Given the description of an element on the screen output the (x, y) to click on. 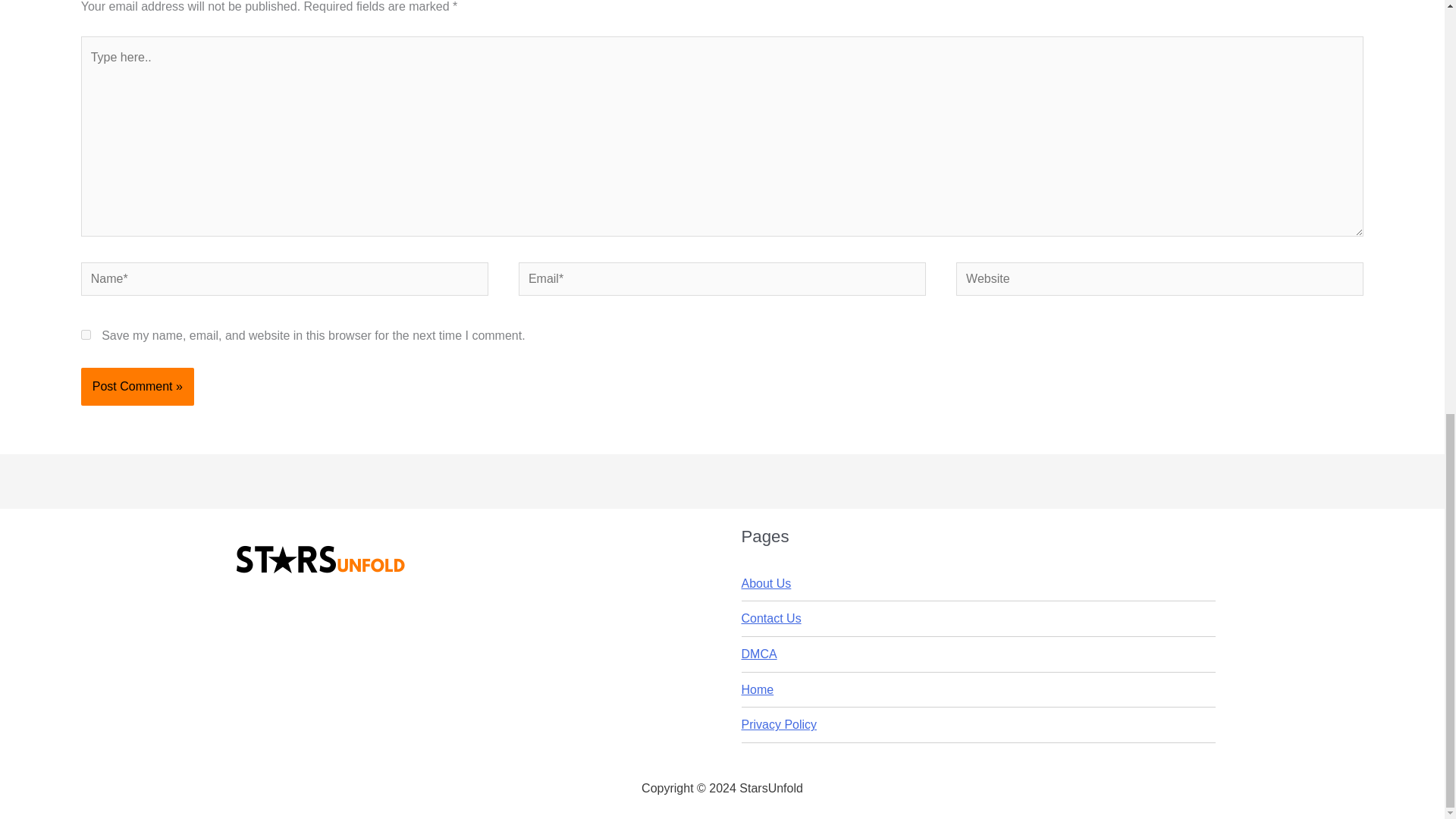
Privacy Policy (778, 724)
yes (85, 334)
DMCA (759, 653)
About Us (766, 583)
Home (757, 689)
Contact Us (771, 617)
